Given the description of an element on the screen output the (x, y) to click on. 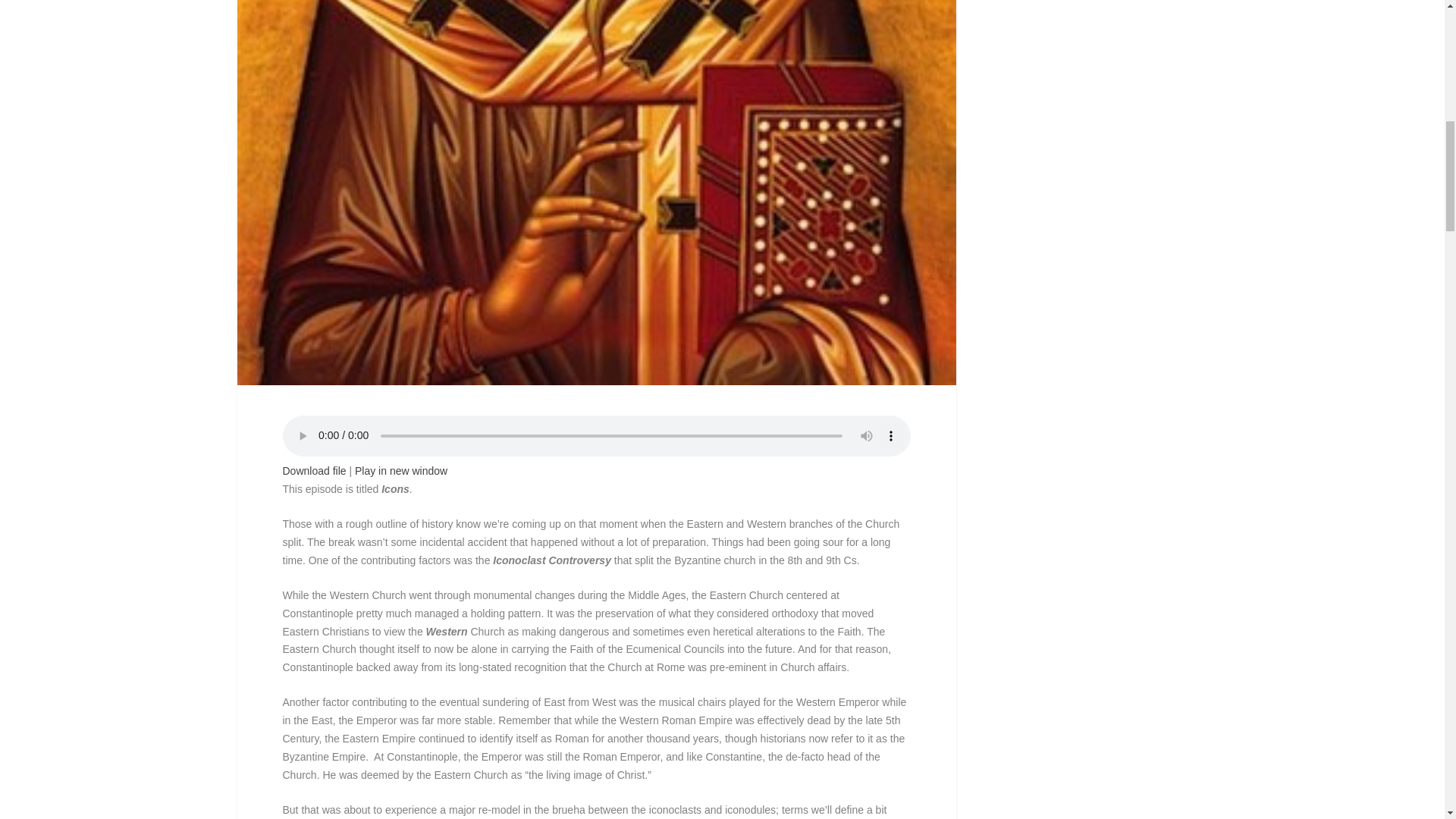
51-Icons  (314, 470)
Download file (314, 470)
51-Icons  (400, 470)
Play in new window (400, 470)
